Given the description of an element on the screen output the (x, y) to click on. 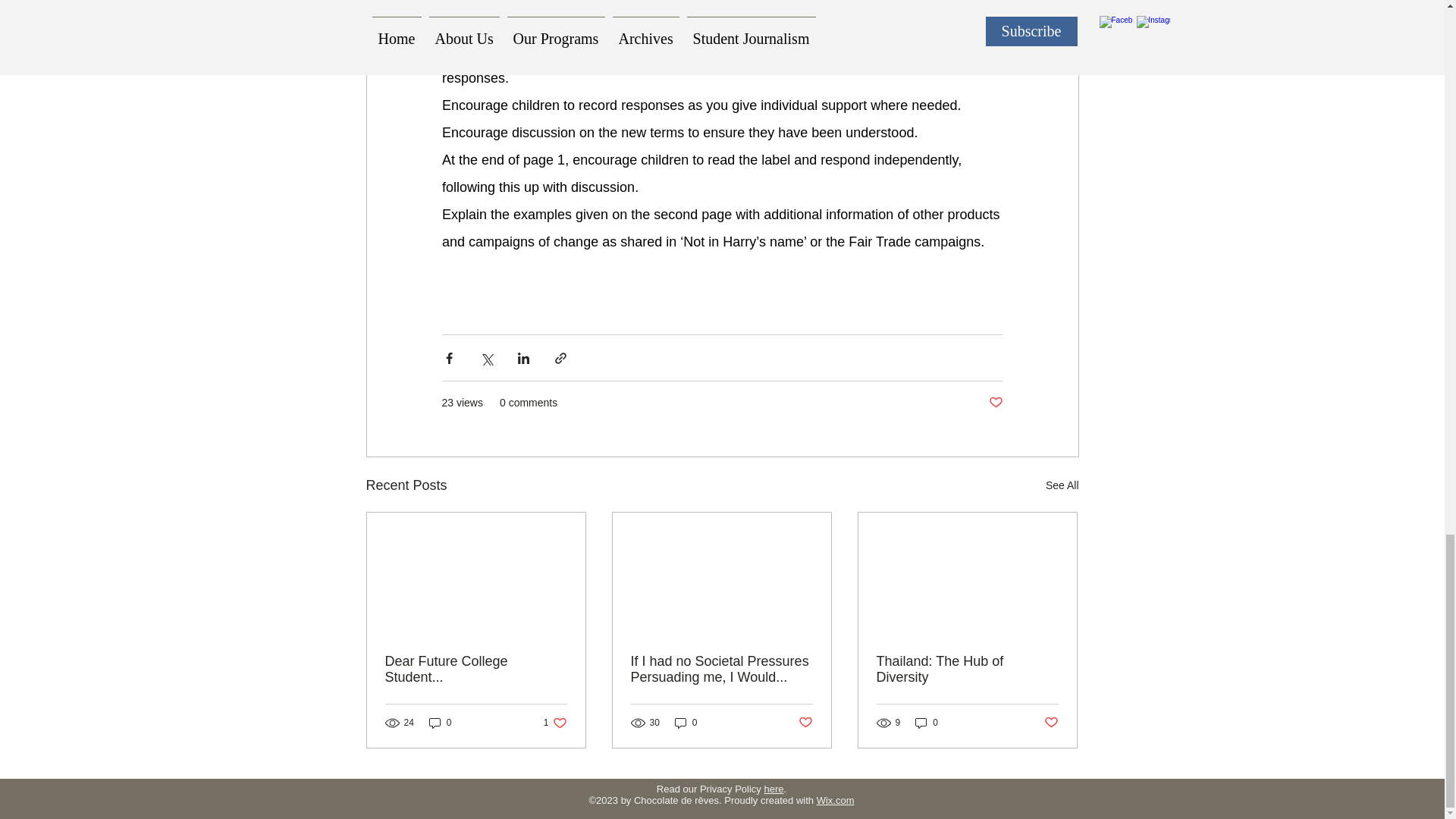
0 (685, 722)
Post not marked as liked (995, 402)
See All (1061, 485)
Post not marked as liked (555, 722)
0 (804, 722)
Thailand: The Hub of Diversity (926, 722)
Post not marked as liked (967, 669)
0 (1050, 722)
If I had no Societal Pressures Persuading me, I Would... (440, 722)
